Given the description of an element on the screen output the (x, y) to click on. 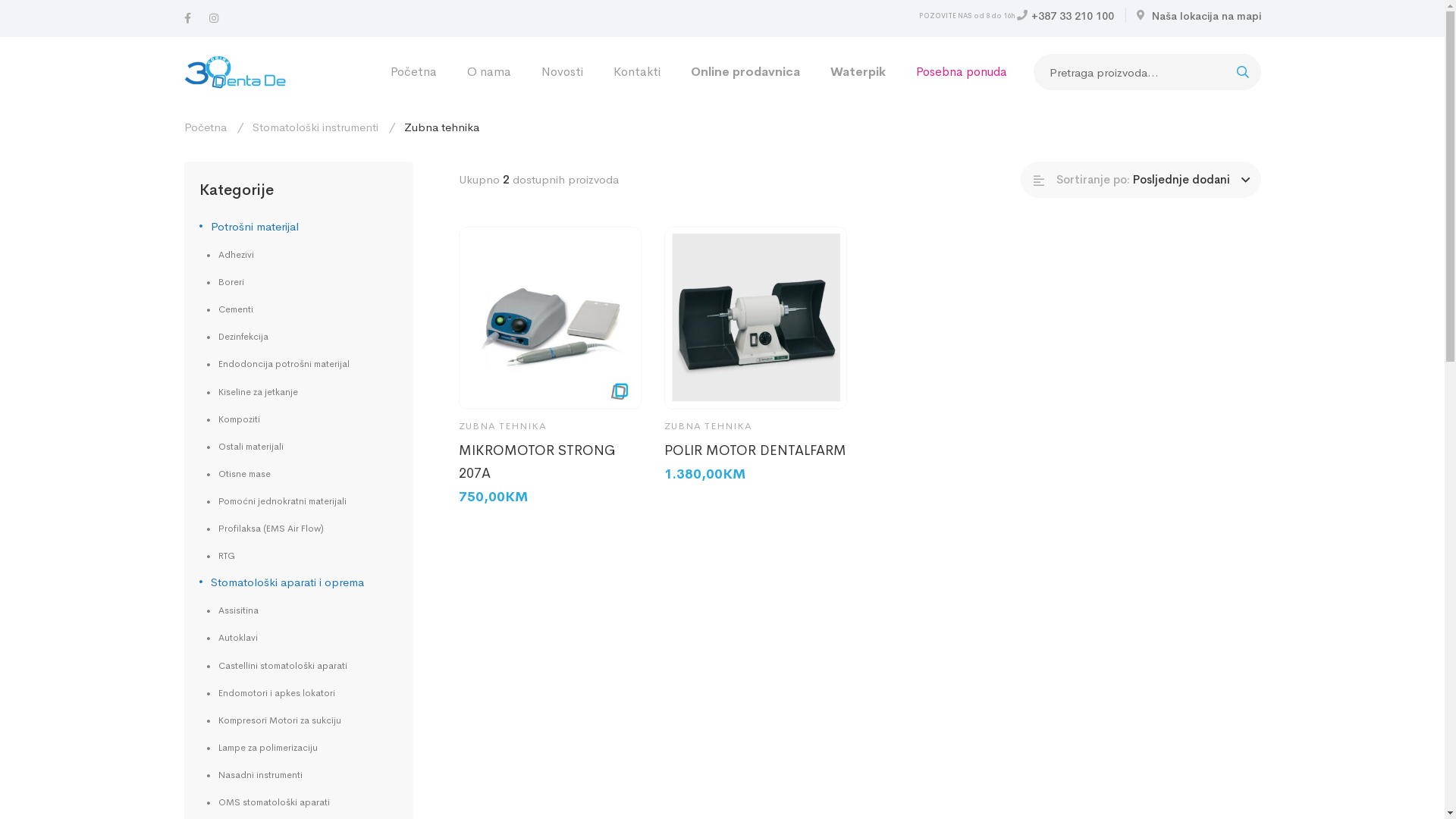
Dezinfekcija Element type: text (236, 336)
Waterpik Element type: text (856, 71)
Kompresori Motori za sukciju Element type: text (273, 720)
MIKROMOTOR STRONG 207A Element type: text (549, 461)
Adhezivi Element type: text (229, 254)
POZOVITE NAS od 8 do 16h +387 33 210 100 Element type: text (1016, 15)
ZUBNA TEHNIKA Element type: text (708, 426)
Autoklavi Element type: text (231, 637)
Lampe za polimerizaciju Element type: text (261, 747)
Kontakti Element type: text (636, 71)
ZUBNA TEHNIKA Element type: text (502, 426)
Assisitina Element type: text (231, 610)
Ostali materijali Element type: text (244, 446)
Endomotori i apkes lokatori Element type: text (270, 693)
RTG Element type: text (220, 555)
Online prodavnica Element type: text (744, 71)
Kiseline za jetkanje Element type: text (251, 391)
Cementi Element type: text (229, 309)
Otisne mase Element type: text (237, 473)
Search for: Element type: hover (1146, 71)
POLIR MOTOR DENTALFARM Element type: text (755, 450)
Boreri Element type: text (224, 282)
Kompoziti Element type: text (232, 419)
O nama Element type: text (488, 71)
Novosti Element type: text (561, 71)
Profilaksa (EMS Air Flow) Element type: text (264, 528)
Nasadni instrumenti Element type: text (253, 774)
Posebna ponuda Element type: text (961, 71)
